Given the description of an element on the screen output the (x, y) to click on. 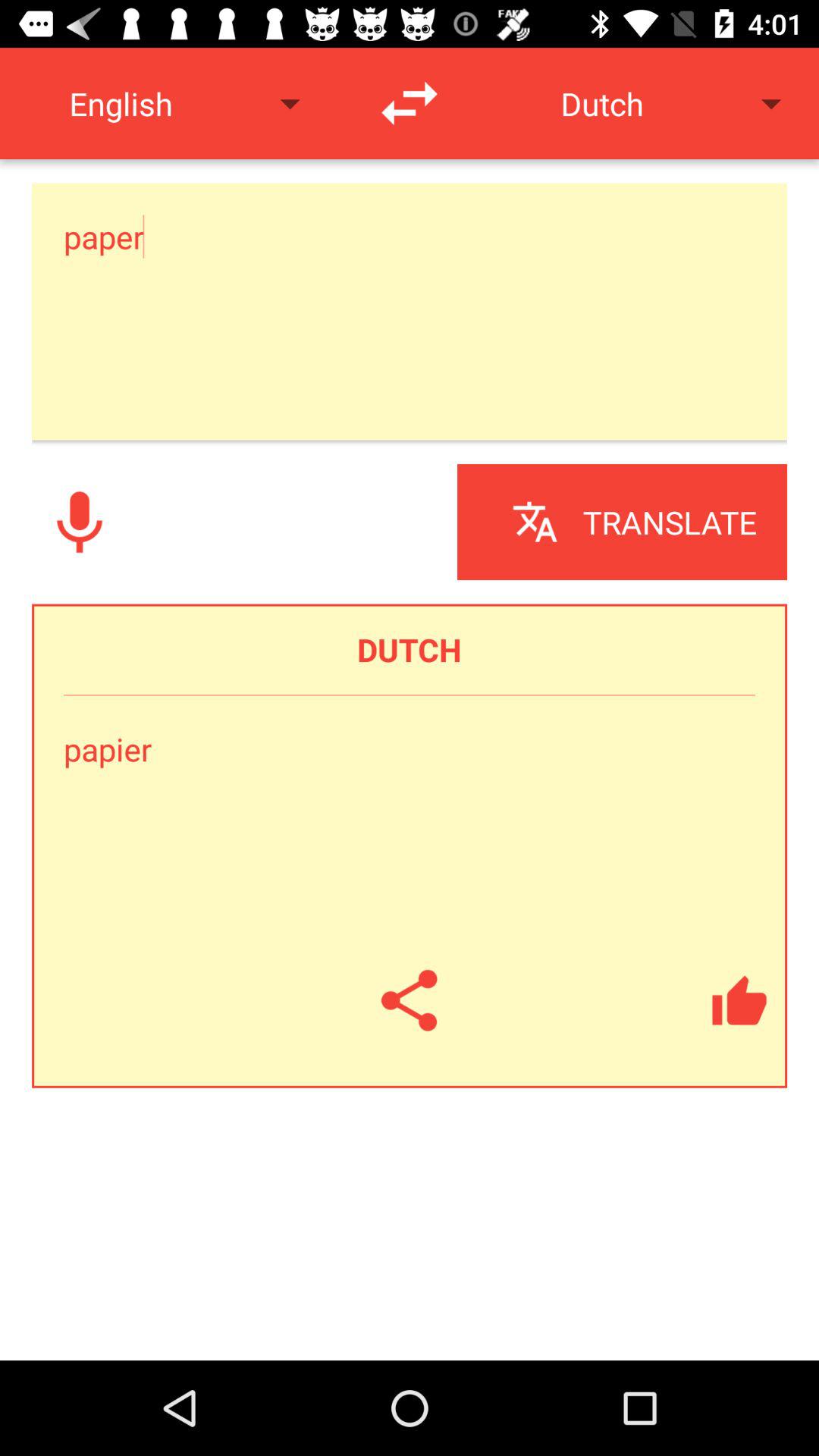
toggle language option (409, 103)
